Given the description of an element on the screen output the (x, y) to click on. 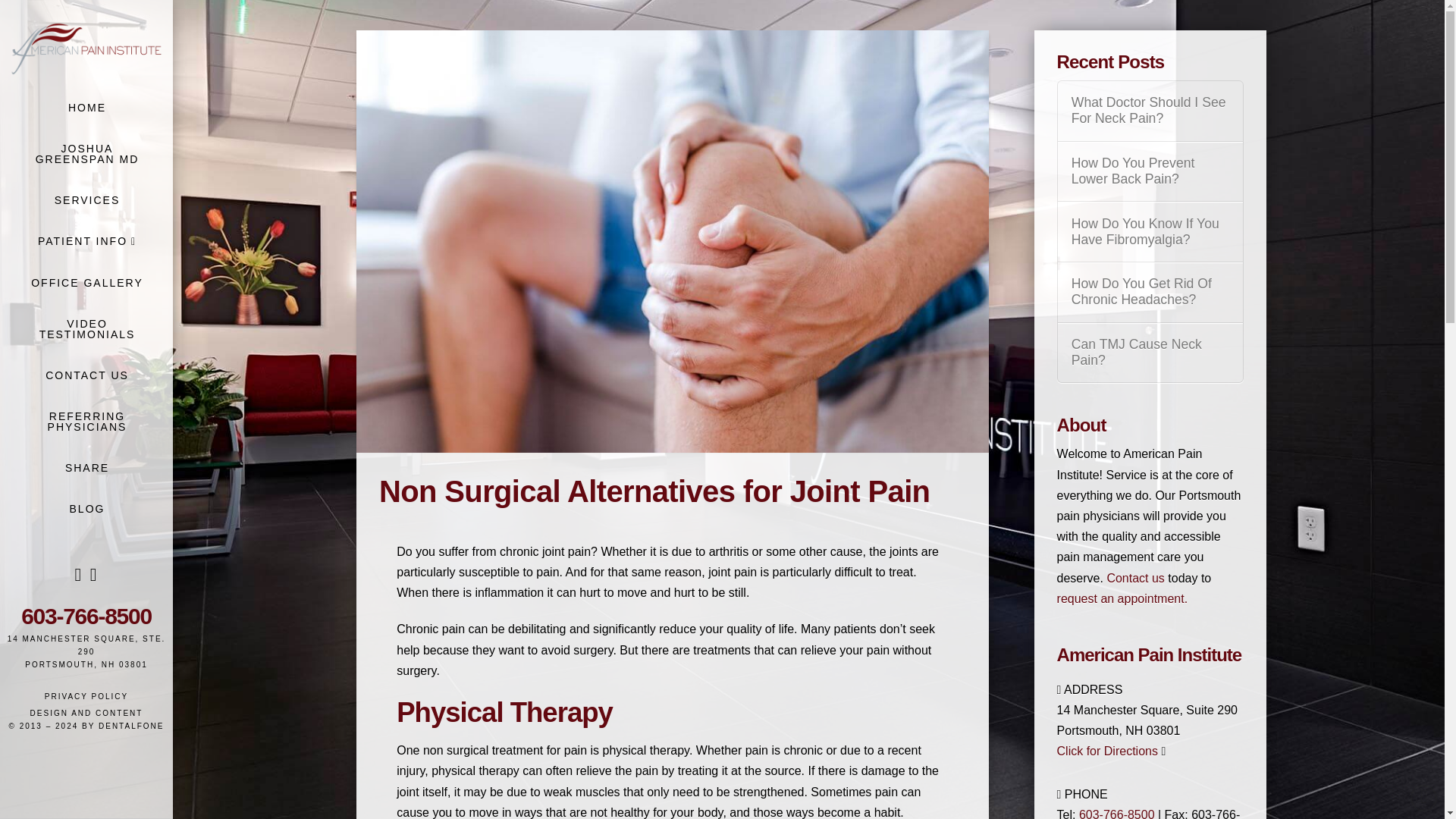
BLOG (86, 508)
SHARE (86, 467)
VIDEO TESTIMONIALS (86, 328)
CONTACT US (86, 374)
REFERRING PHYSICIANS (86, 421)
OFFICE GALLERY (86, 282)
JOSHUA GREENSPAN MD (86, 153)
603-766-8500 (86, 615)
SERVICES (86, 199)
PATIENT INFO (86, 241)
Back to Top (1423, 797)
HOME (86, 106)
PRIVACY POLICY (86, 696)
